Given the description of an element on the screen output the (x, y) to click on. 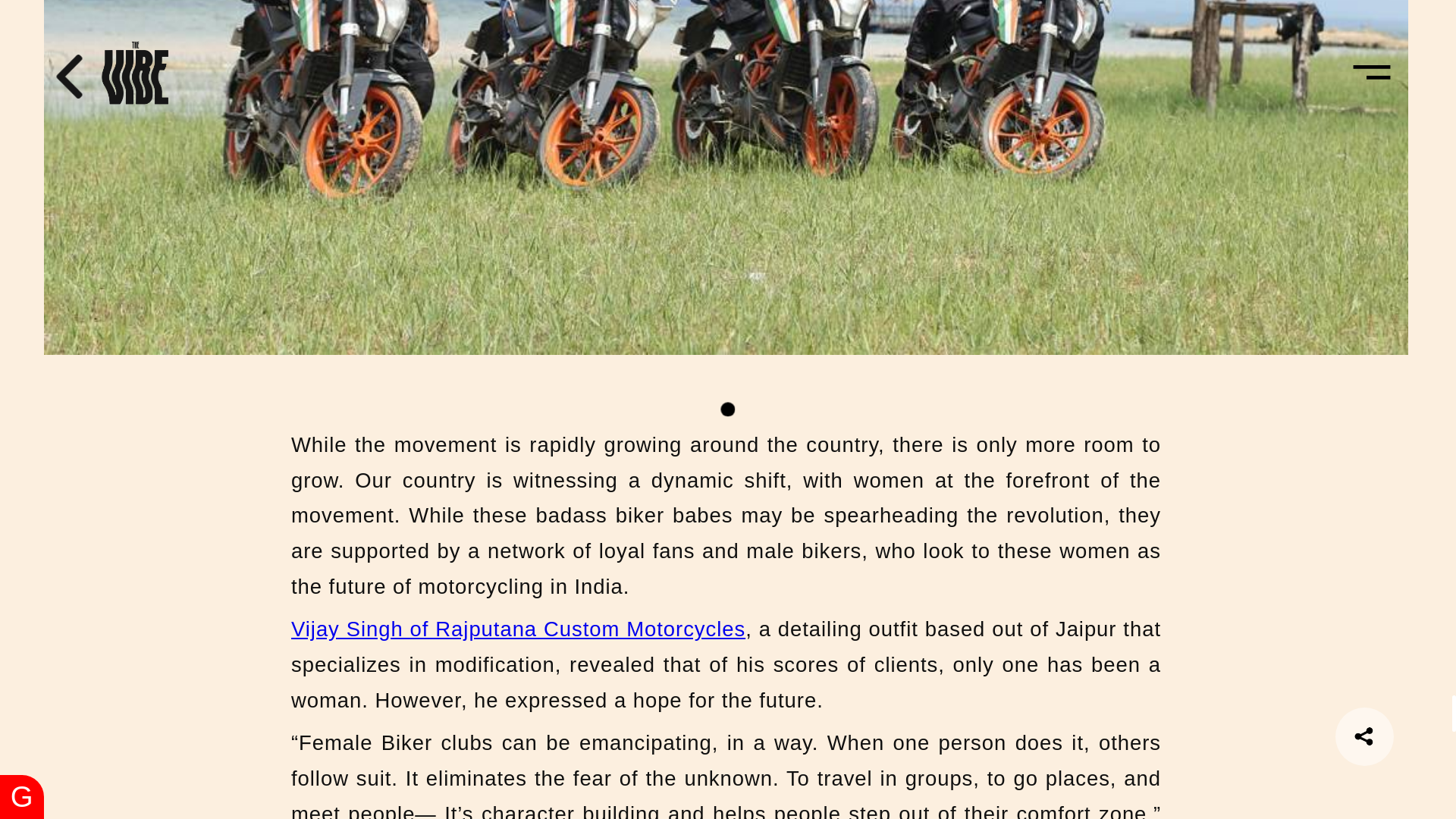
Vijay Singh of Rajputana Custom Motorcycles (518, 628)
